Given the description of an element on the screen output the (x, y) to click on. 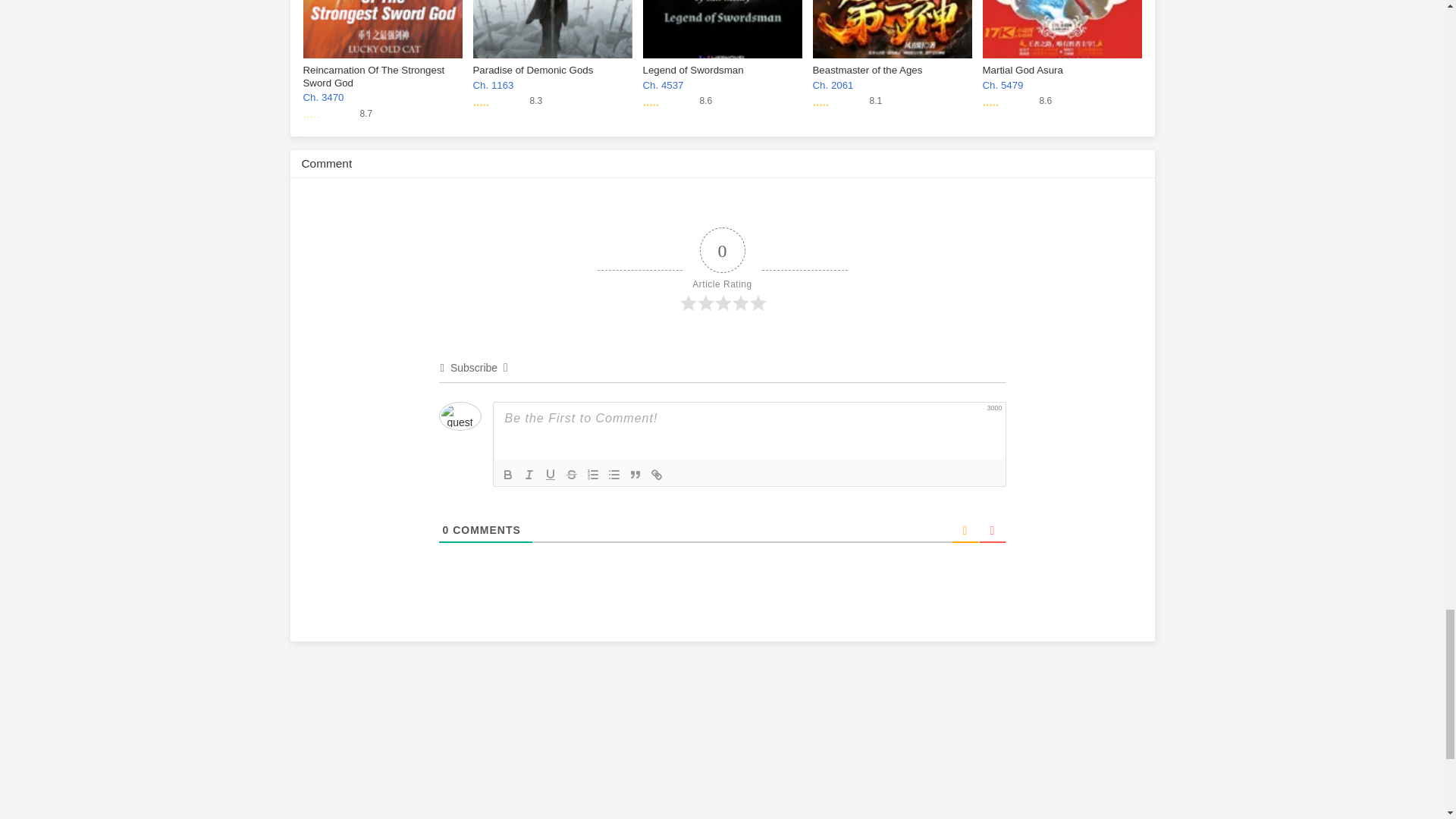
Beastmaster of the Ages (1061, 58)
Reincarnation Of The Strongest Sword God (892, 36)
Bold (382, 36)
Martial God Asura (507, 475)
Italic (722, 58)
Legend of Swordsman (1061, 36)
